Given the description of an element on the screen output the (x, y) to click on. 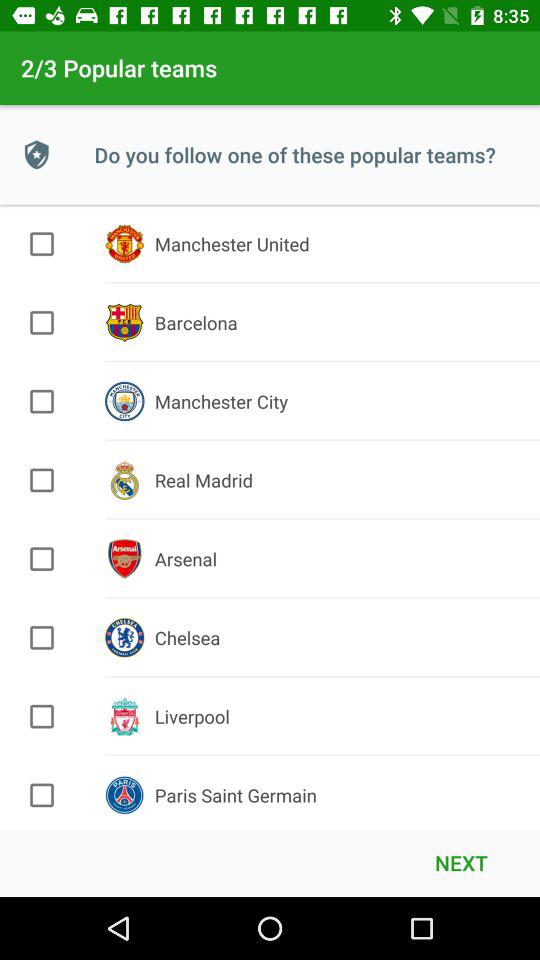
select option (42, 401)
